Given the description of an element on the screen output the (x, y) to click on. 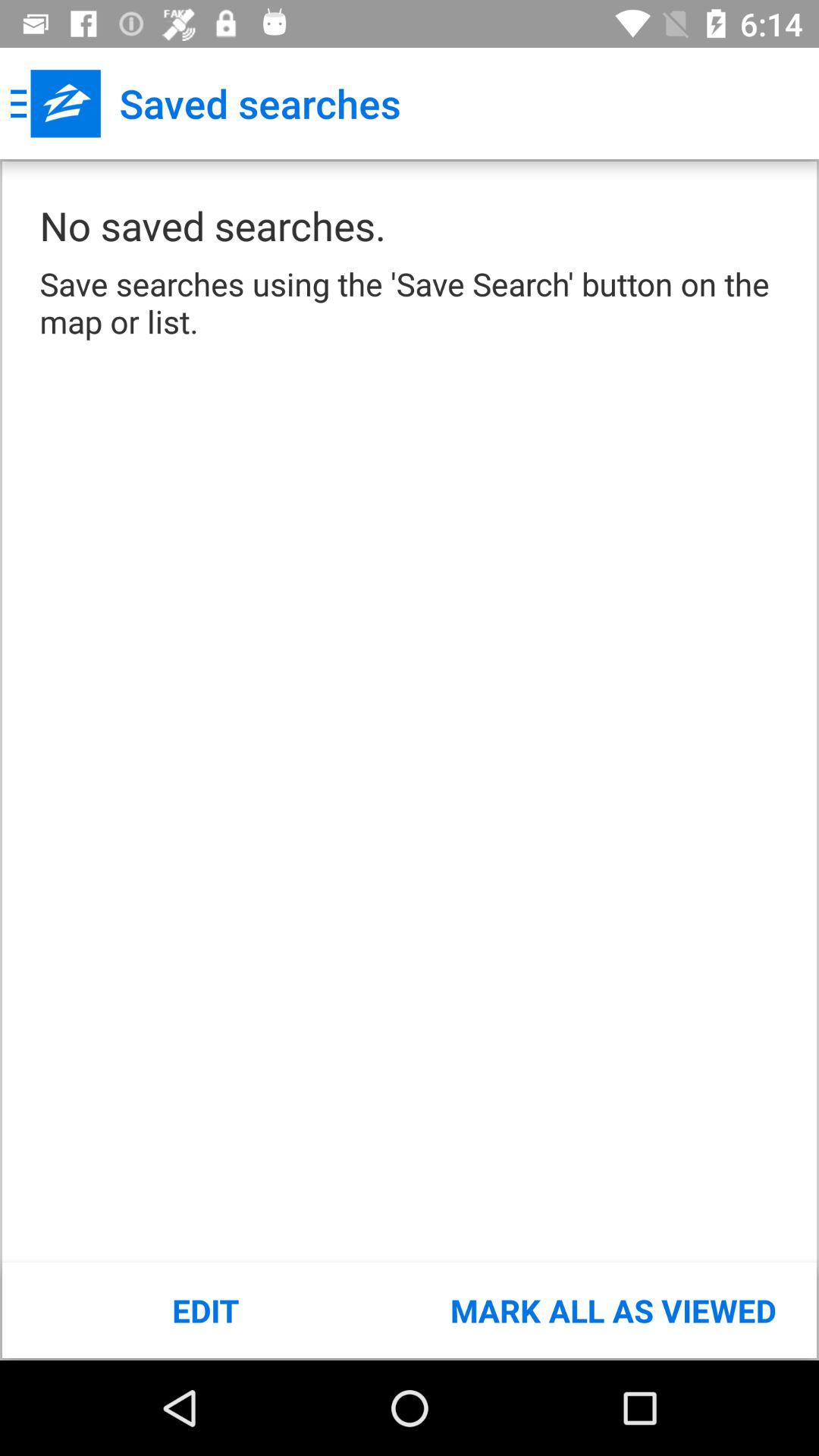
click the item next to the mark all as icon (205, 1310)
